Given the description of an element on the screen output the (x, y) to click on. 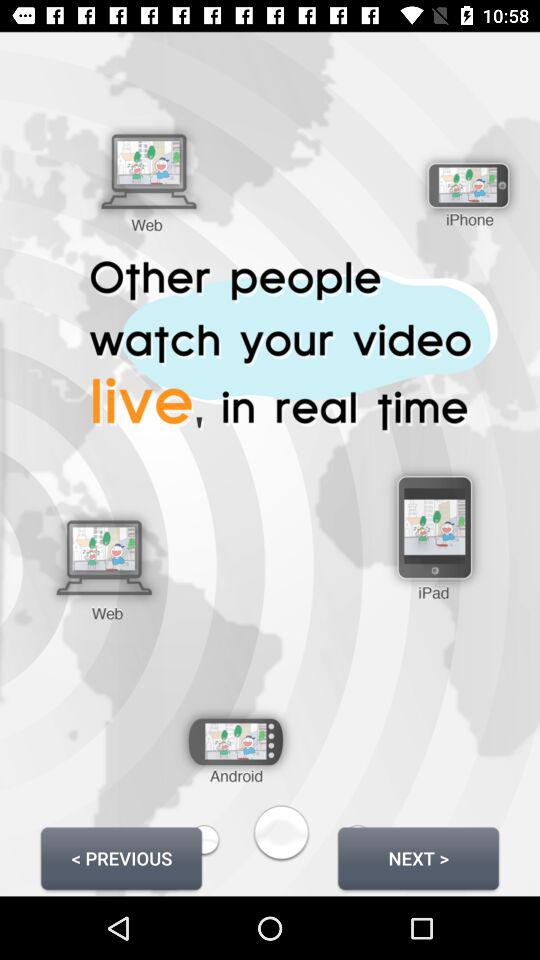
turn on the next > icon (418, 858)
